Given the description of an element on the screen output the (x, y) to click on. 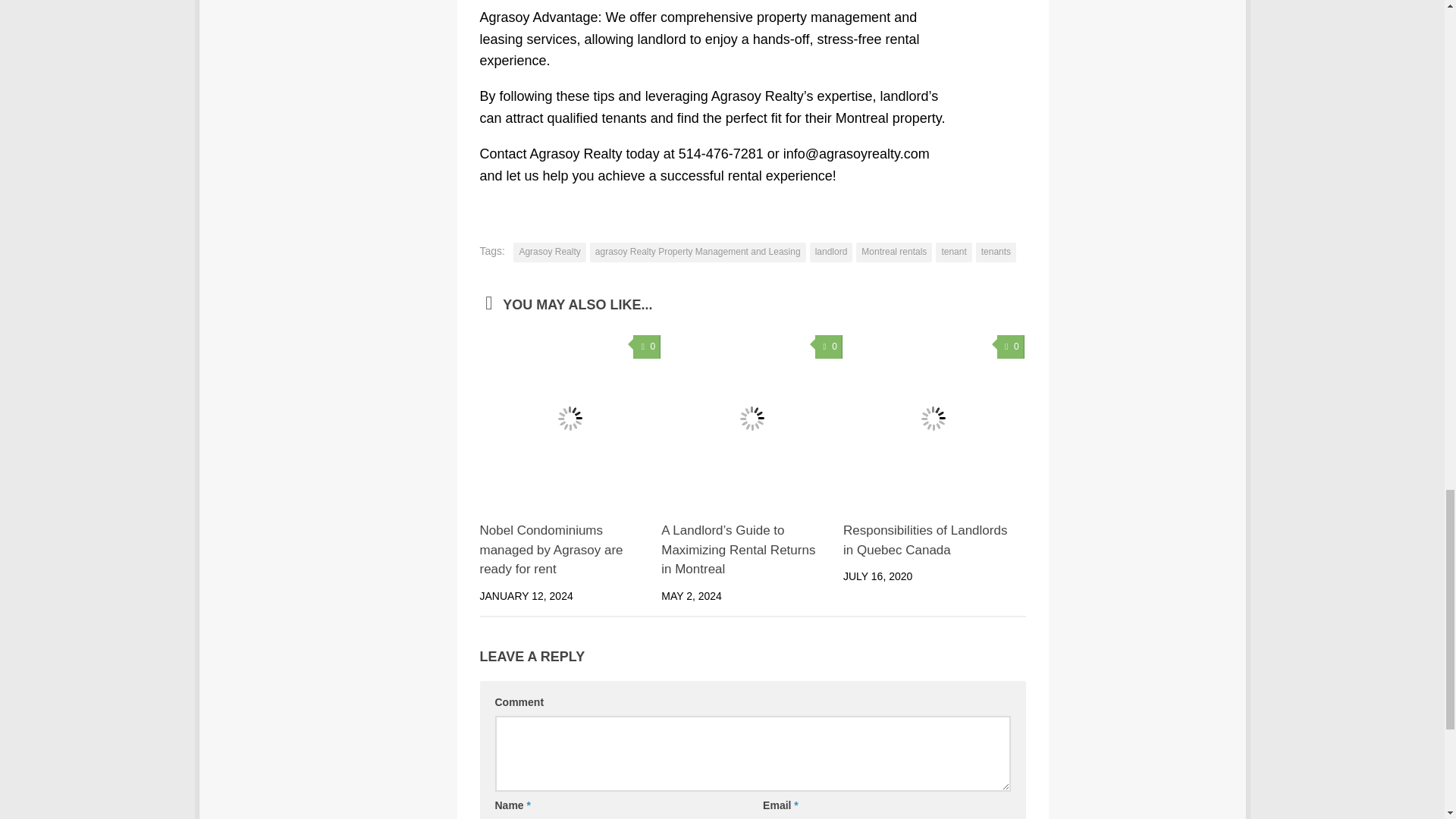
Permalink to Responsibilities of Landlords in Quebec Canada (925, 540)
